Given the description of an element on the screen output the (x, y) to click on. 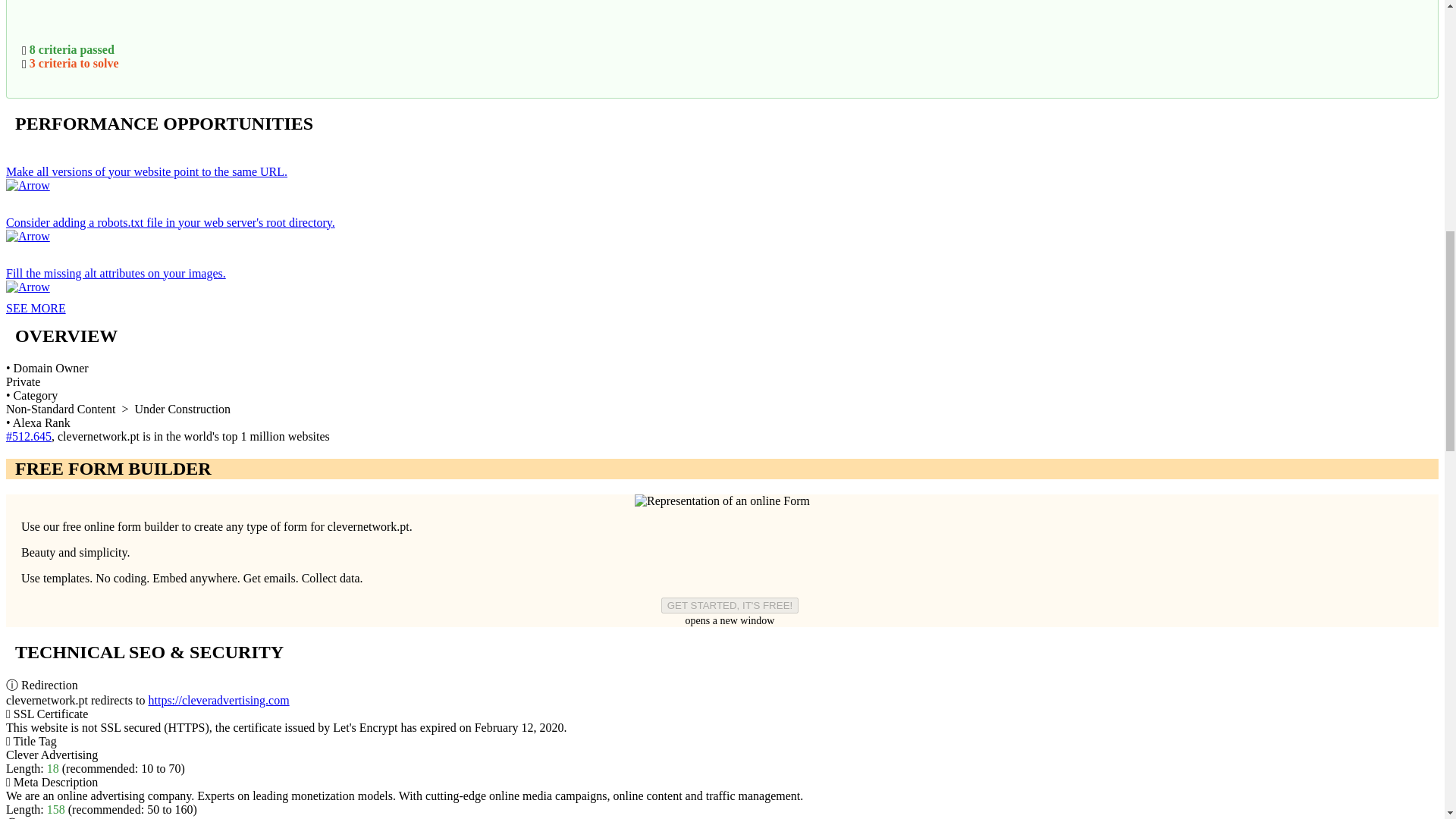
SEE MORE (35, 308)
GET STARTED, IT'S FREE! (729, 605)
GET STARTED, IT'S FREE! (729, 605)
